Given the description of an element on the screen output the (x, y) to click on. 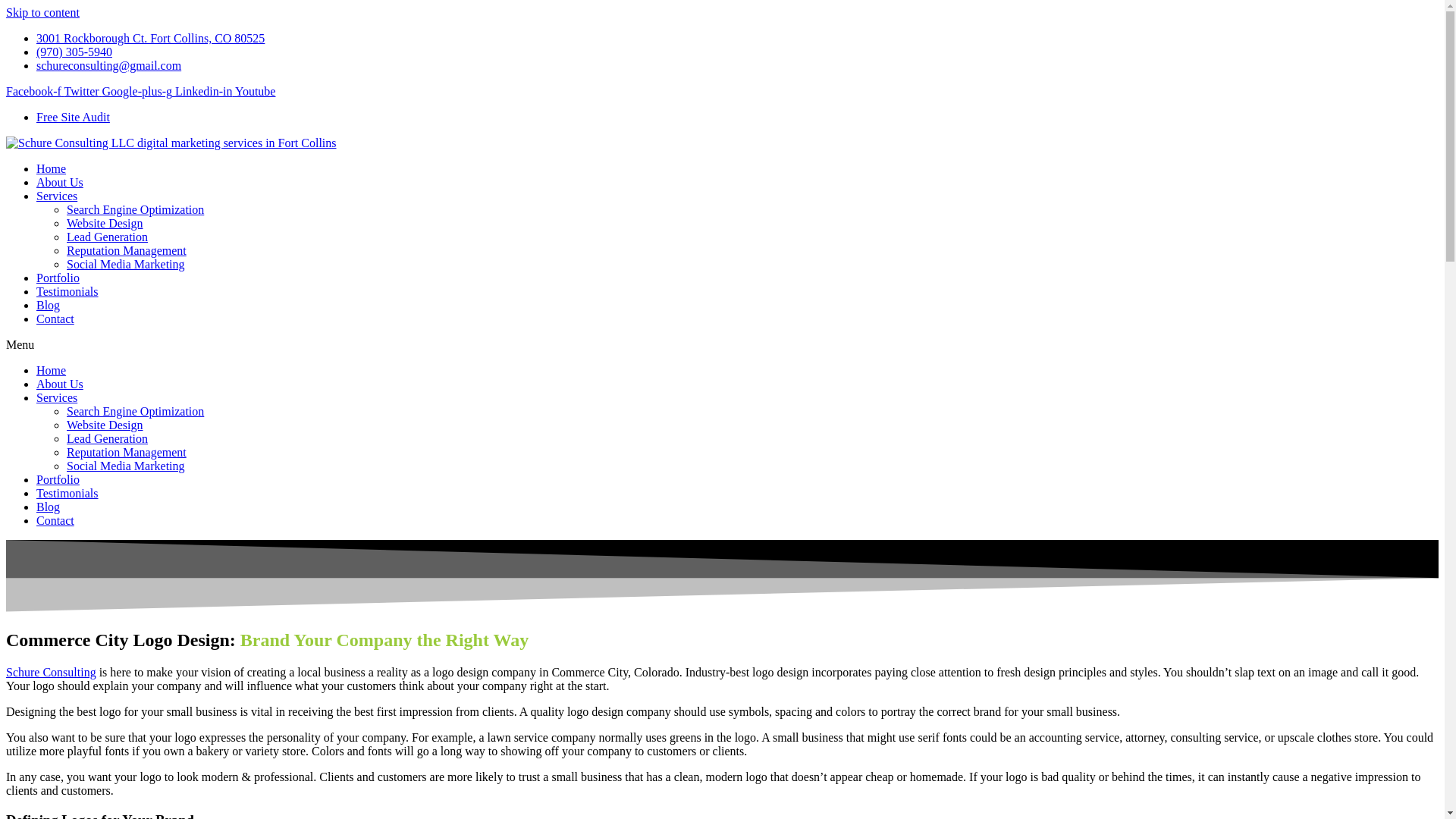
Blog (47, 305)
Skip to content (42, 11)
Youtube (255, 91)
Linkedin-in (204, 91)
Search Engine Optimization (134, 410)
Website Design (104, 424)
Google-plus-g (137, 91)
Services (56, 397)
Schure Consulting (50, 671)
Blog (47, 506)
